Given the description of an element on the screen output the (x, y) to click on. 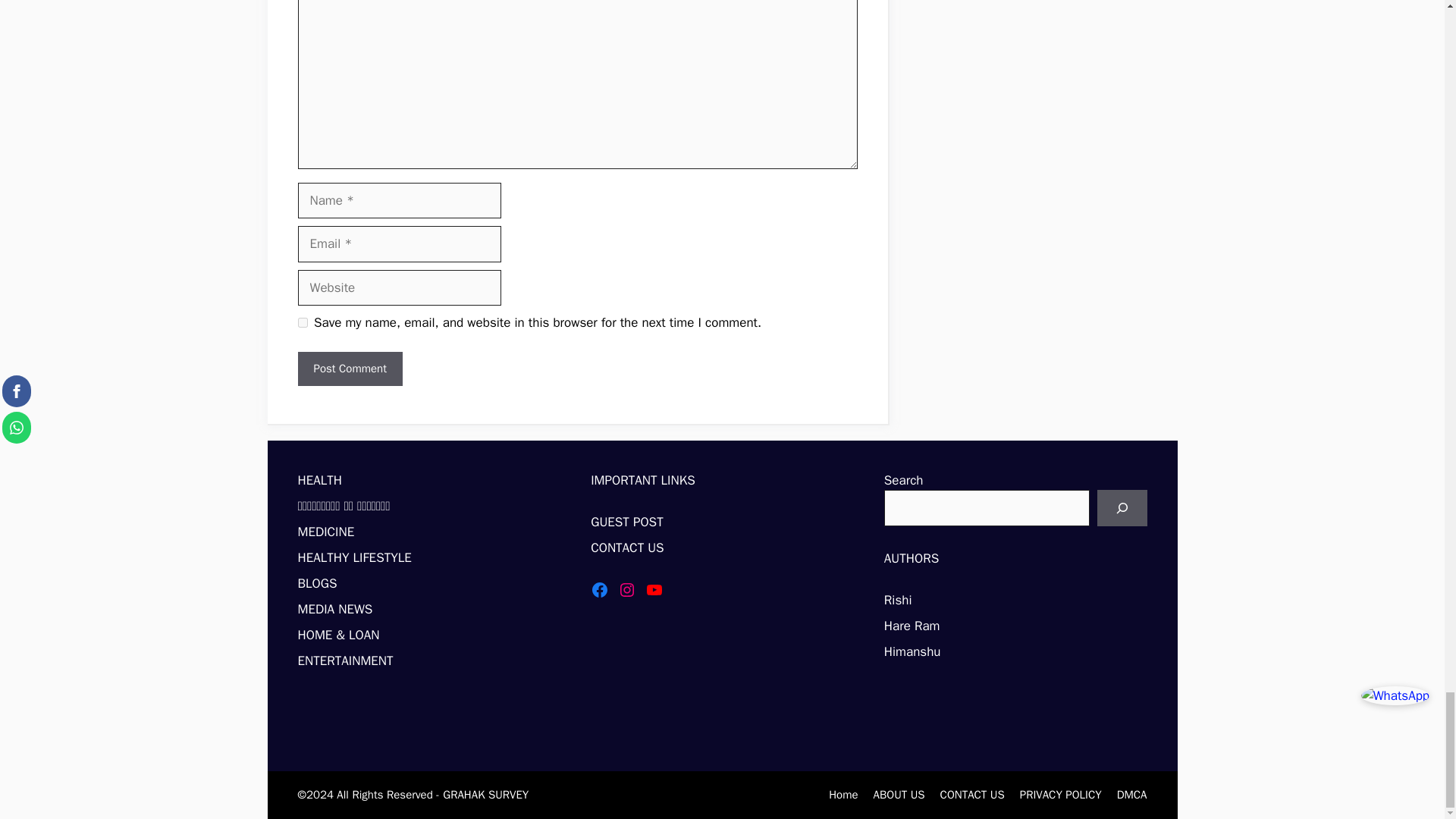
DMCA.com Protection Status (704, 731)
Post Comment (349, 368)
yes (302, 322)
